Given the description of an element on the screen output the (x, y) to click on. 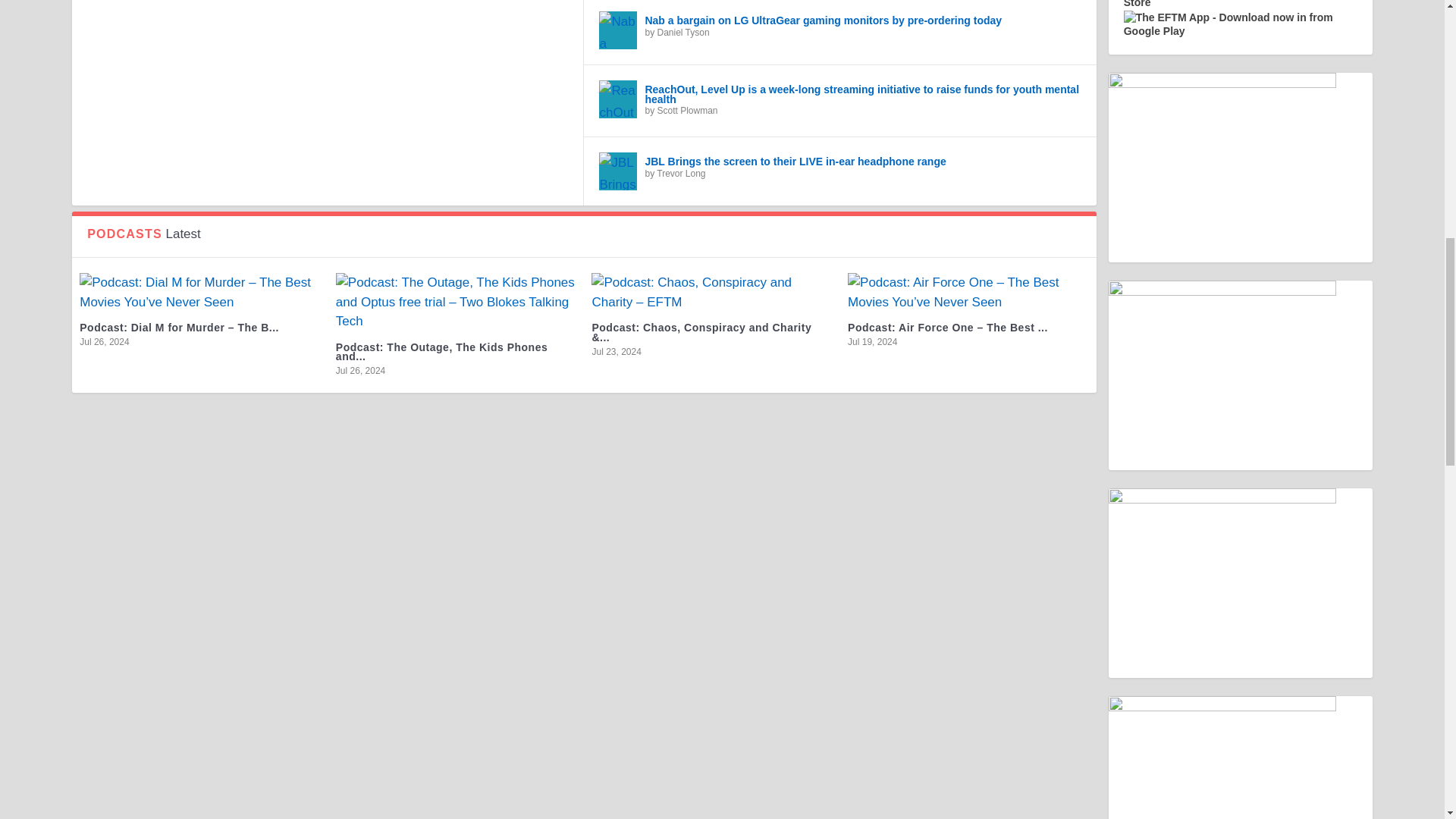
Posts by Scott Plowman (686, 110)
Posts by Daniel Tyson (682, 32)
